Given the description of an element on the screen output the (x, y) to click on. 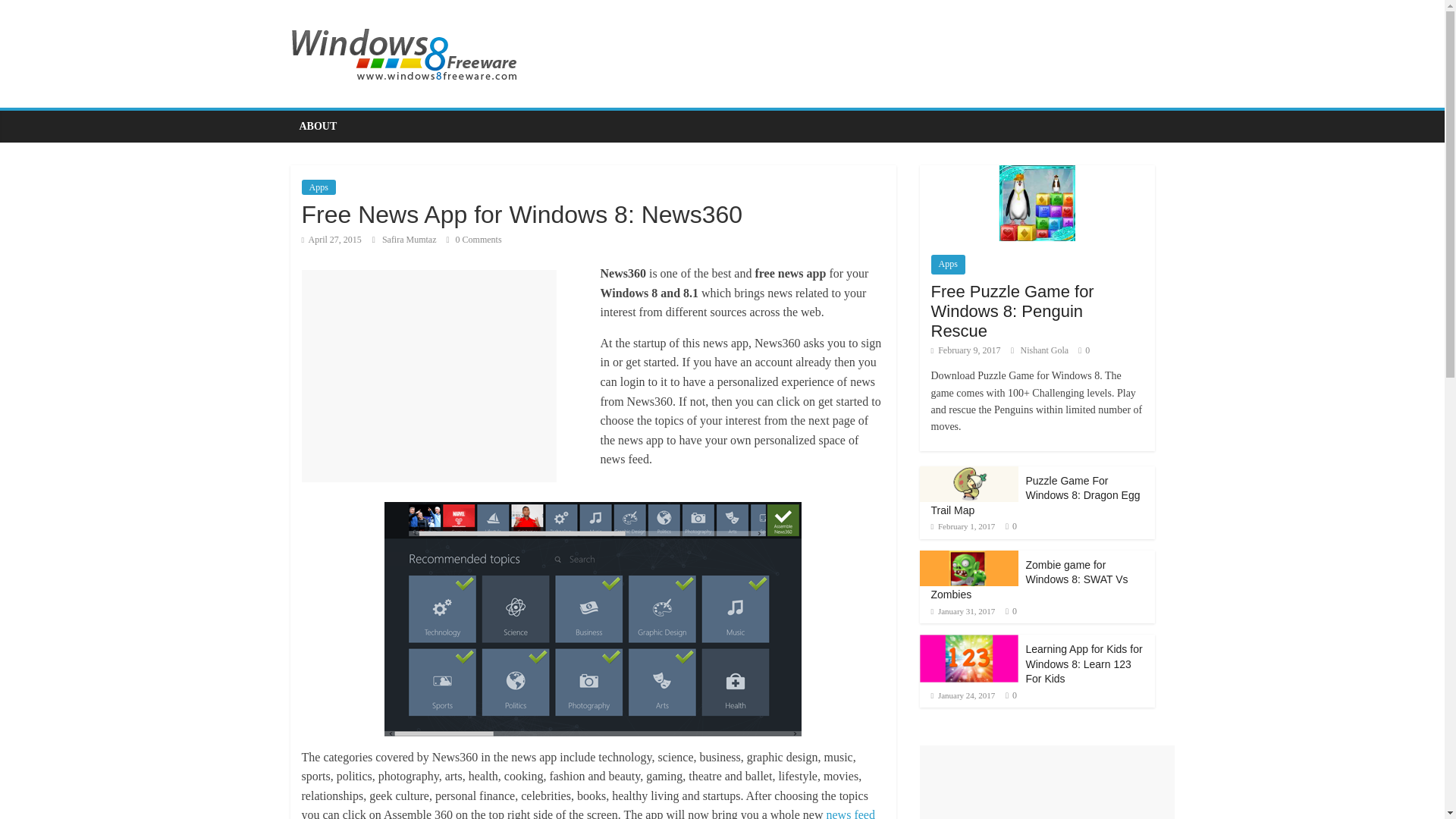
0 Comments (474, 239)
Learning App for Kids for Windows 8: Learn 123 For Kids (1083, 663)
Zombie game for Windows 8: SWAT Vs Zombies (1029, 579)
Nishant Gola (1045, 349)
10:00 am (963, 525)
Puzzle Game For Windows 8: Dragon Egg Trail Map (1035, 495)
Apps (948, 263)
1:00 pm (331, 239)
Puzzle Game For Windows 8: Dragon Egg Trail Map (967, 473)
Free Puzzle Game for Windows 8: Penguin Rescue (1012, 311)
Nishant Gola (1045, 349)
ABOUT (317, 126)
10:00 am (966, 349)
January 31, 2017 (963, 610)
April 27, 2015 (331, 239)
